Given the description of an element on the screen output the (x, y) to click on. 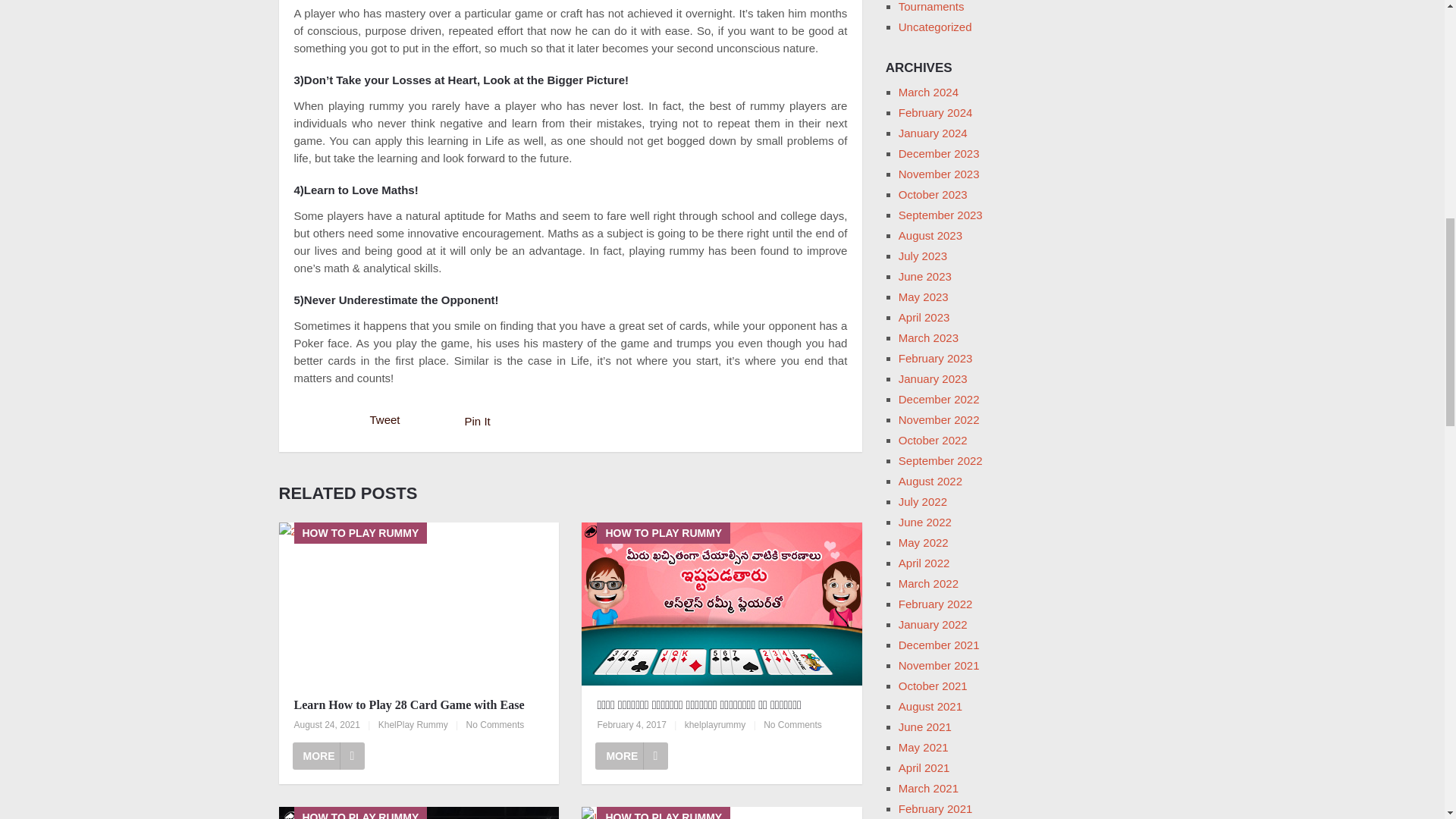
HOW TO PLAY RUMMY (419, 812)
Learn How to Play 28 Card Game with Ease (419, 704)
Learn How to Play 28 Card Game with Ease (328, 755)
No Comments (792, 724)
MORE (328, 755)
MORE (631, 755)
Learn How to Play 28 Card Game with Ease (419, 704)
Pin It (477, 420)
khelplayrummy (714, 724)
HOW TO PLAY RUMMY (419, 603)
